Given the description of an element on the screen output the (x, y) to click on. 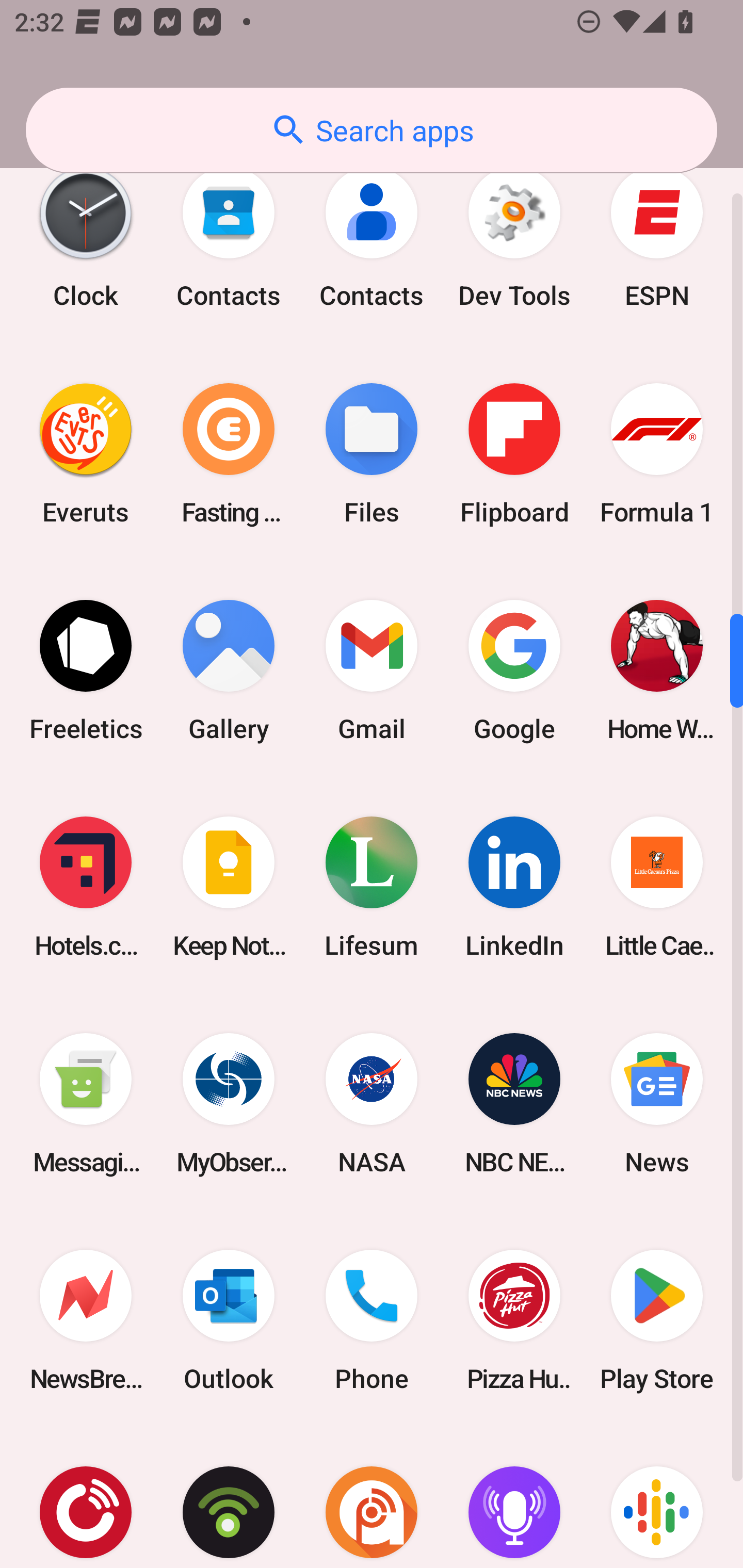
  Search apps (371, 130)
Clock (85, 236)
Contacts (228, 236)
Contacts (371, 236)
Dev Tools (514, 236)
ESPN (656, 236)
Everuts (85, 453)
Fasting Coach (228, 453)
Files (371, 453)
Flipboard (514, 453)
Formula 1 (656, 453)
Freeletics (85, 670)
Gallery (228, 670)
Gmail (371, 670)
Google (514, 670)
Home Workout (656, 670)
Hotels.com (85, 887)
Keep Notes (228, 887)
Lifesum (371, 887)
LinkedIn (514, 887)
Little Caesars Pizza (656, 887)
Messaging (85, 1103)
MyObservatory (228, 1103)
NASA (371, 1103)
NBC NEWS (514, 1103)
News (656, 1103)
NewsBreak (85, 1320)
Outlook (228, 1320)
Phone (371, 1320)
Pizza Hut HK & Macau (514, 1320)
Play Store (656, 1320)
Player FM (85, 1498)
Podbean (228, 1498)
Podcast Addict (371, 1498)
Podcast Player (514, 1498)
Podcasts (656, 1498)
